Given the description of an element on the screen output the (x, y) to click on. 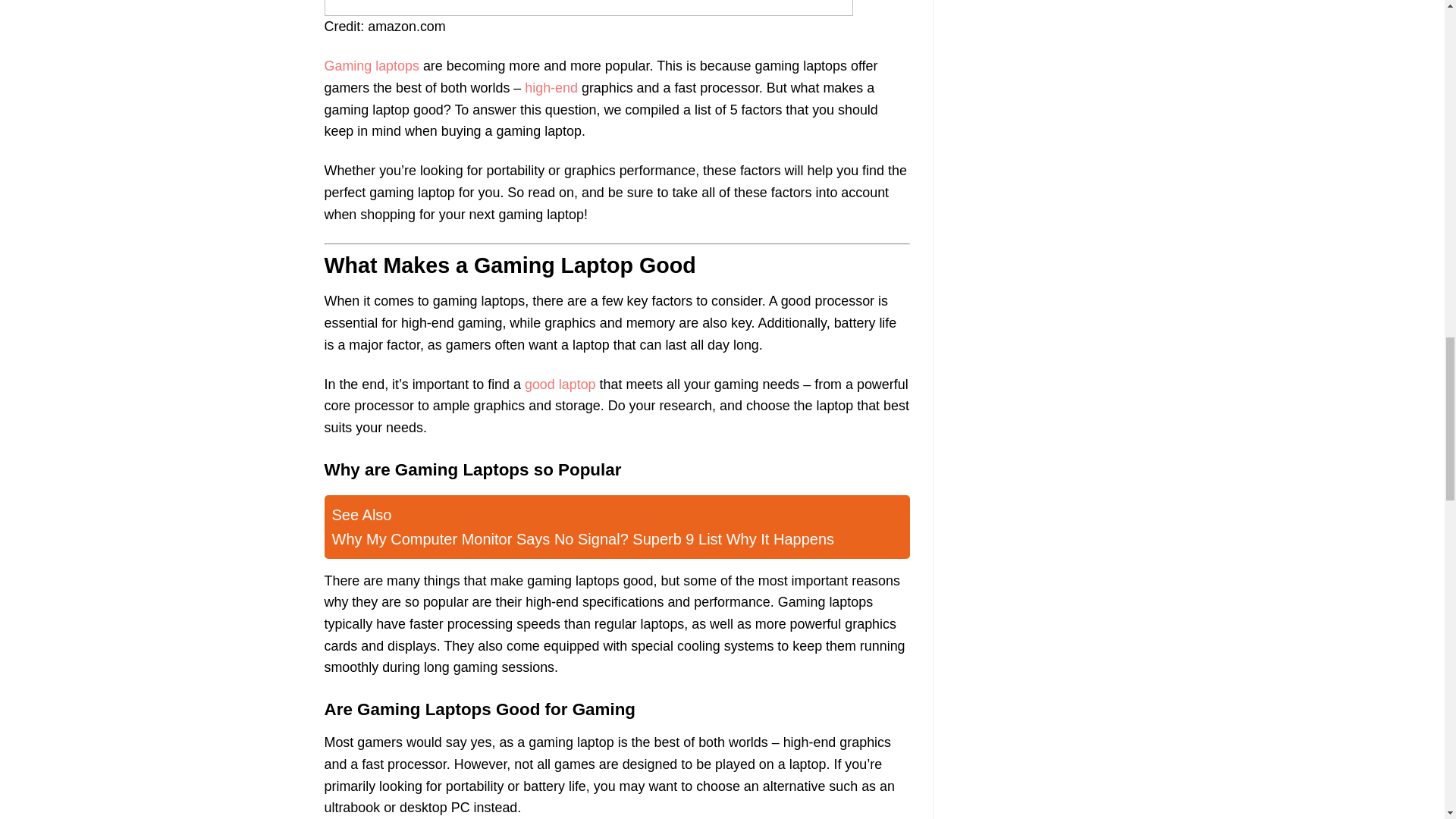
What makes a gaming laptop good? 5 factors to consider 2 (588, 7)
